Given the description of an element on the screen output the (x, y) to click on. 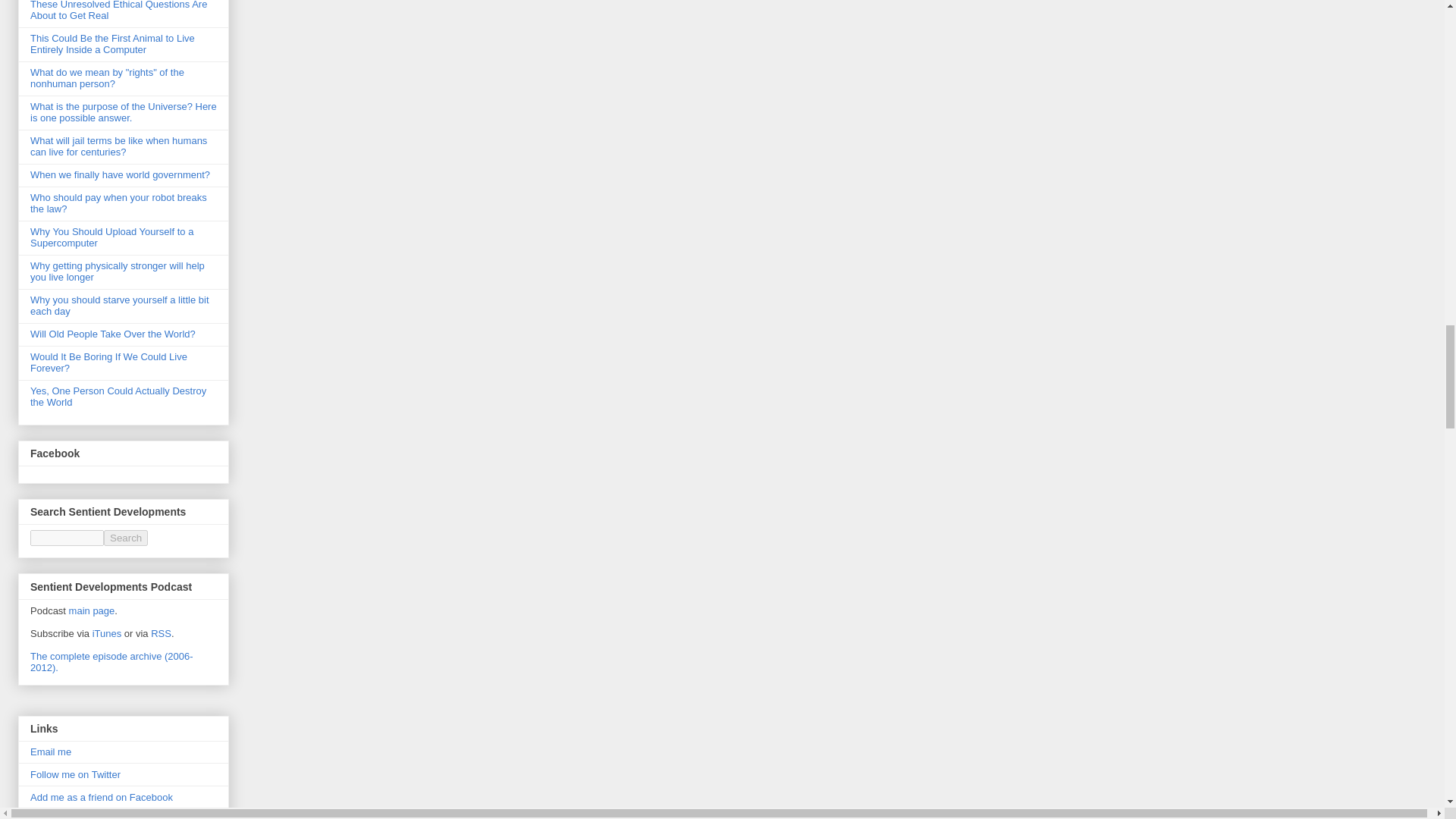
Search (125, 537)
Search (125, 537)
search (66, 537)
search (125, 537)
